Given the description of an element on the screen output the (x, y) to click on. 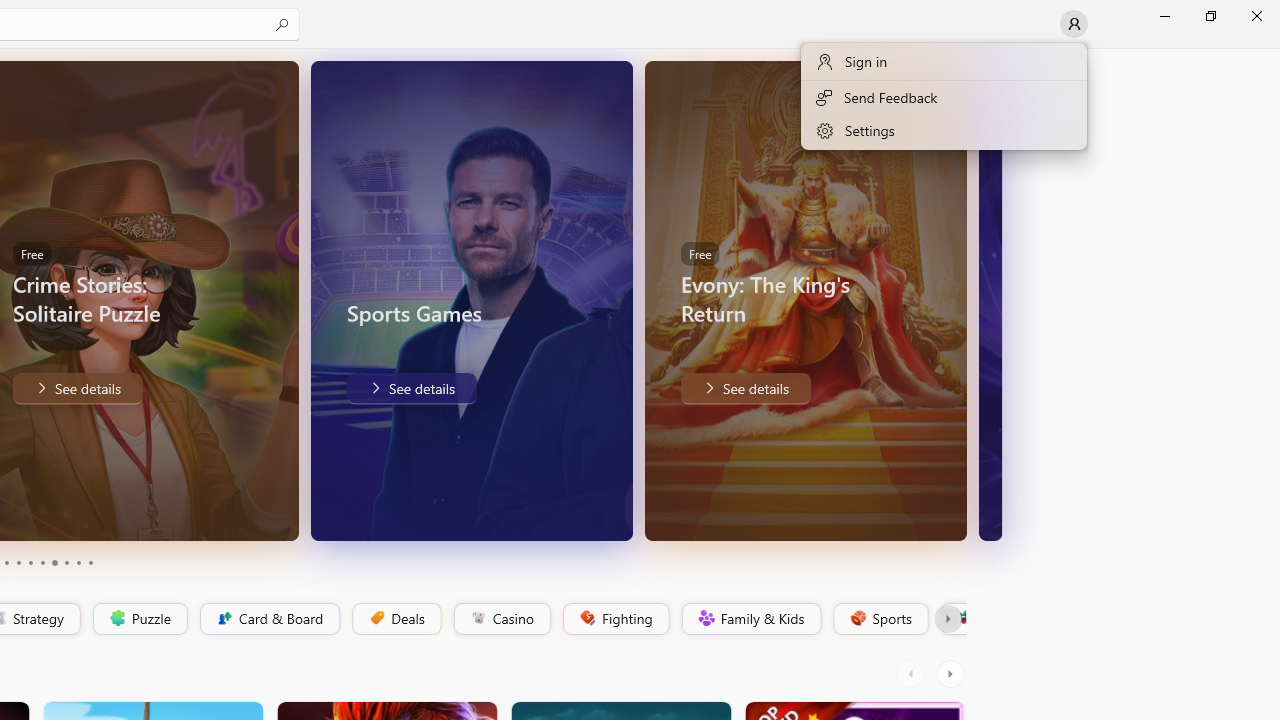
Fighting (614, 619)
Platformer (952, 619)
Puzzle (139, 619)
Casino (501, 619)
AutomationID: RightScrollButton (952, 673)
Sports Games. Play Today!.  . See details (410, 387)
Page 7 (54, 562)
AutomationID: LeftScrollButton (913, 673)
Page 6 (41, 562)
Page 9 (77, 562)
Page 8 (65, 562)
Sports (879, 619)
Unmute (937, 512)
Family & Kids (750, 619)
